Given the description of an element on the screen output the (x, y) to click on. 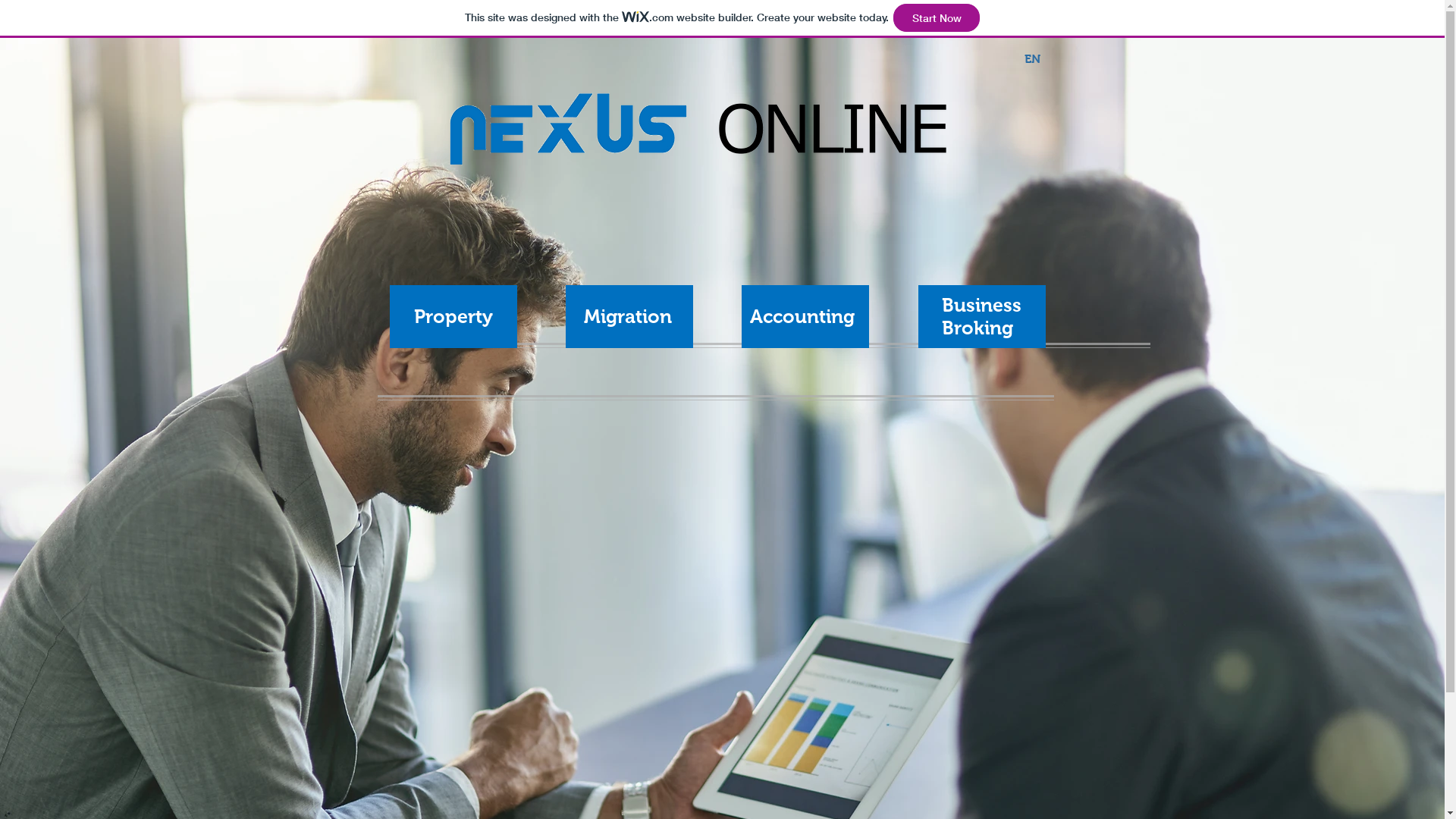
Accounting Element type: text (801, 315)
Property Element type: text (453, 315)
EN Element type: text (1032, 59)
Business Broking Element type: text (981, 315)
Migration Element type: text (627, 315)
